Given the description of an element on the screen output the (x, y) to click on. 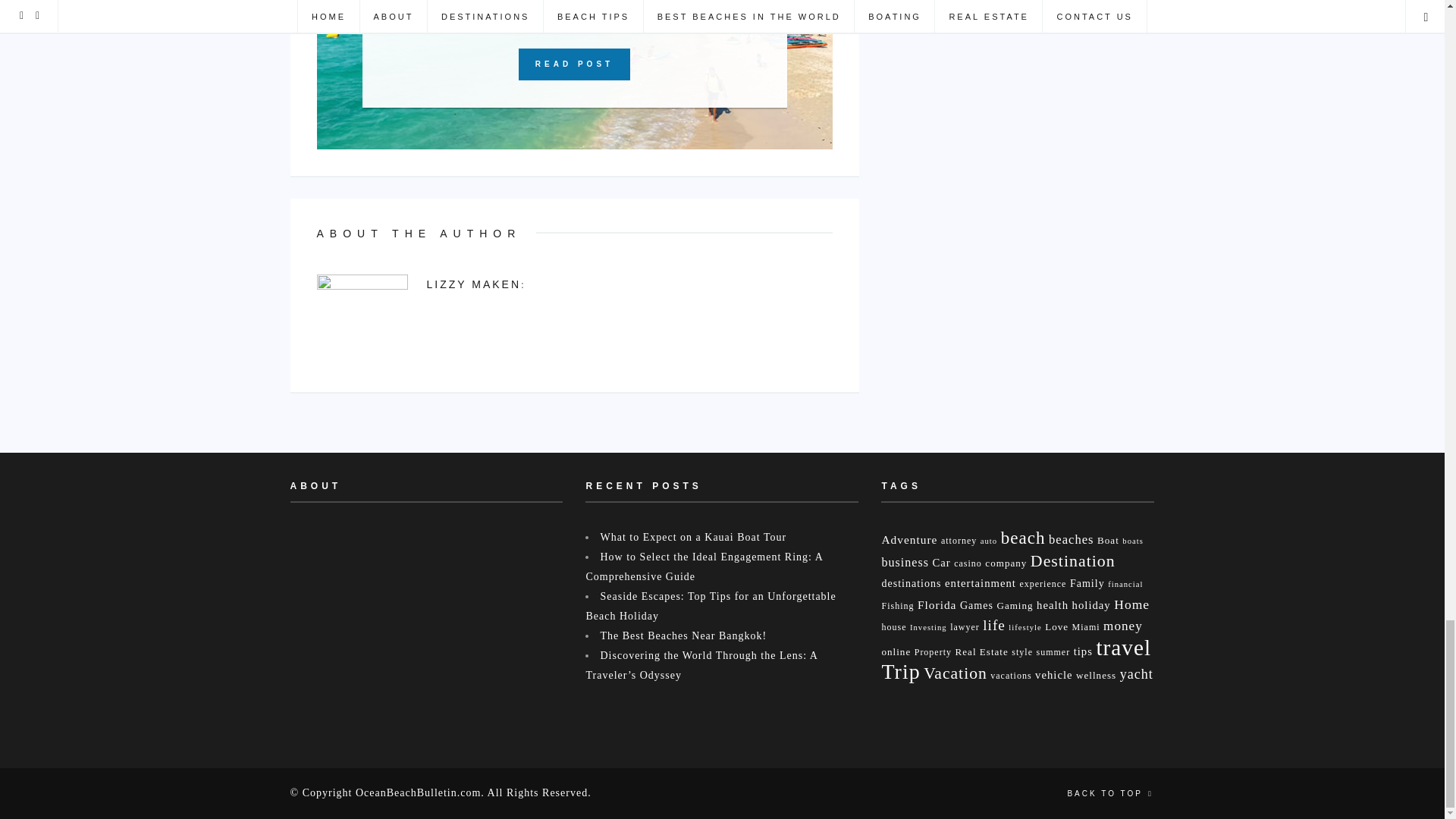
READ POST (574, 64)
